Given the description of an element on the screen output the (x, y) to click on. 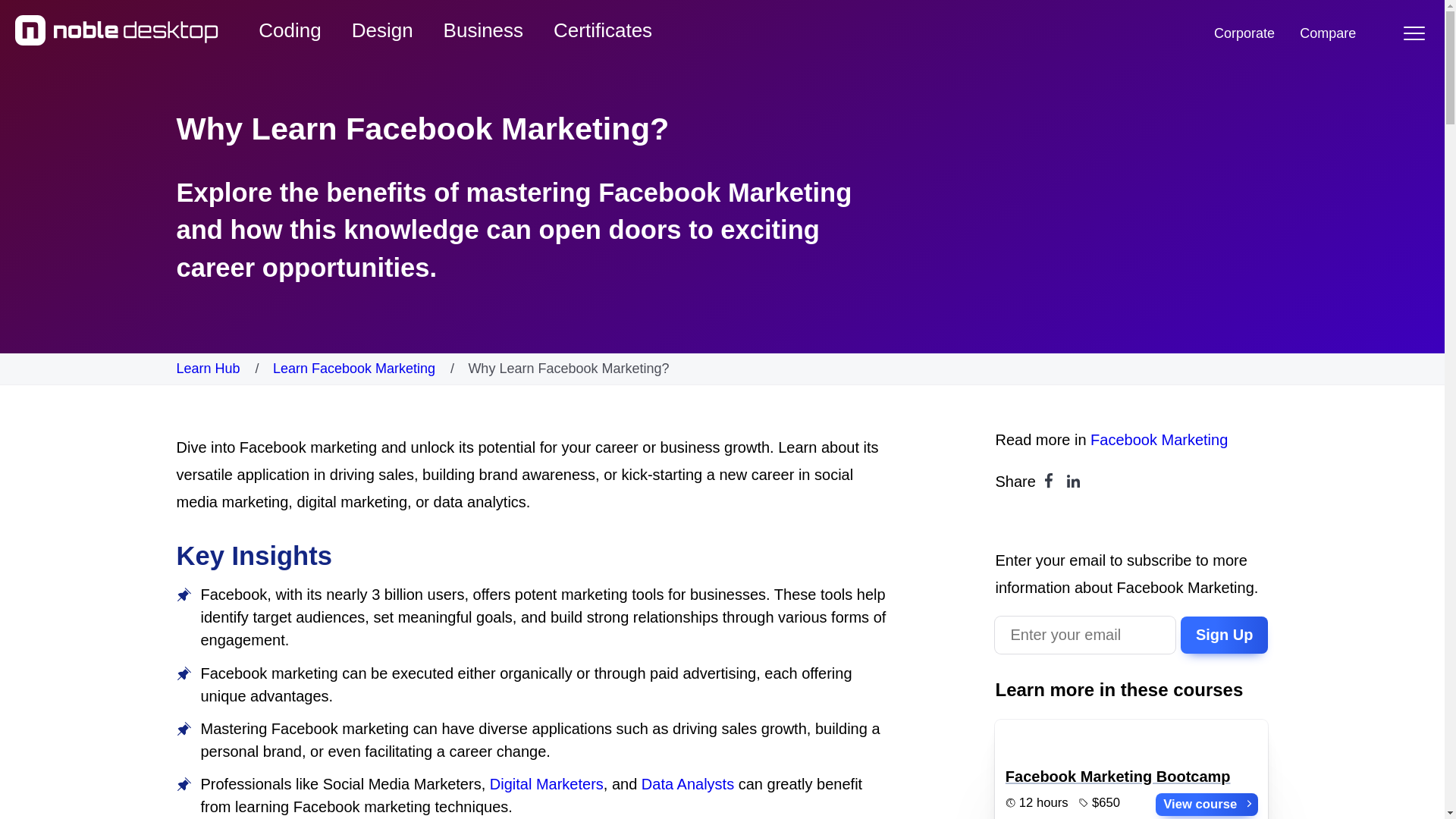
Business (483, 30)
Share on LinkedIn (1073, 481)
Sign Up (1224, 635)
Coding (289, 30)
Design (382, 30)
